Given the description of an element on the screen output the (x, y) to click on. 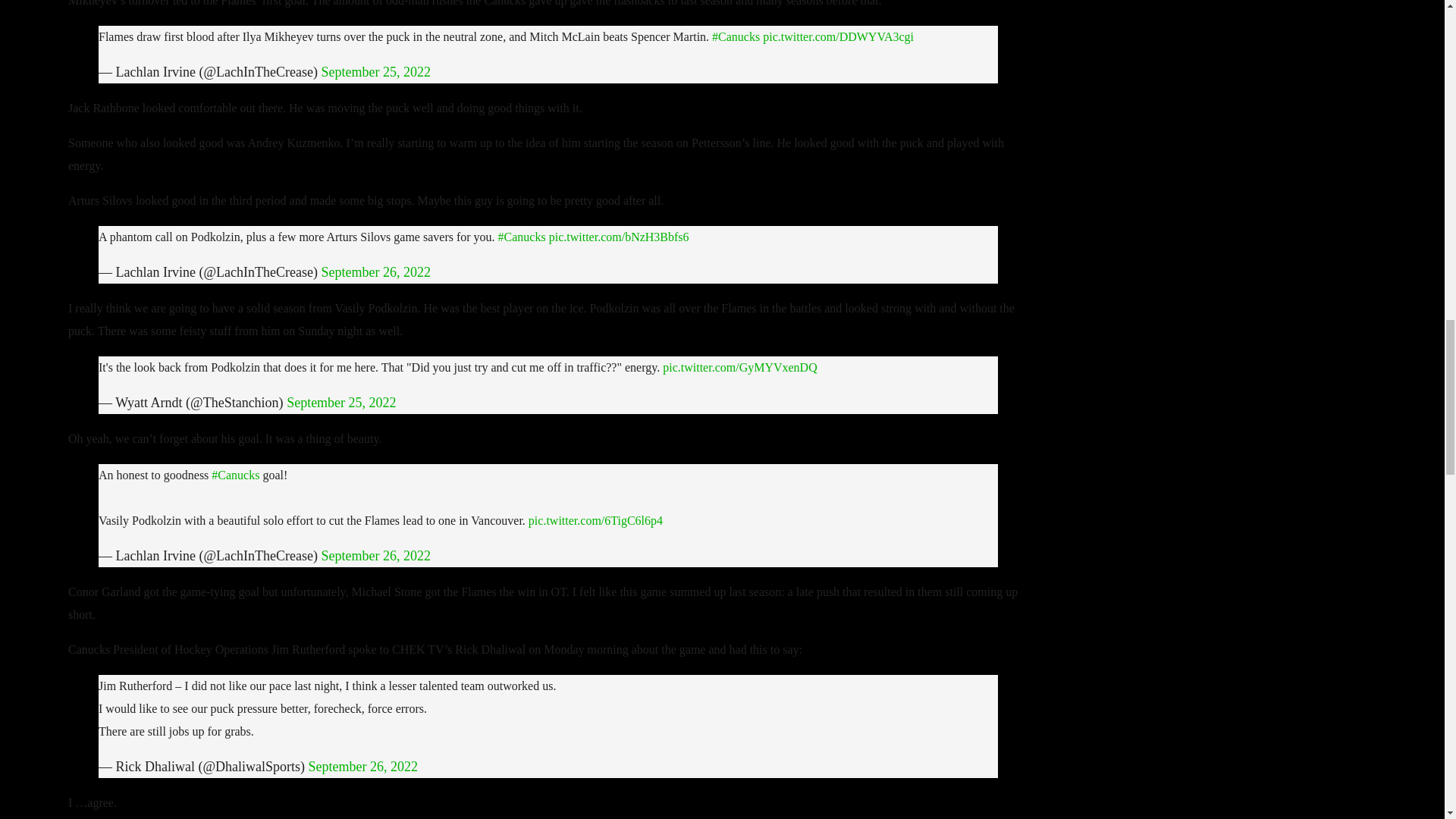
September 26, 2022 (374, 272)
September 25, 2022 (341, 402)
September 26, 2022 (362, 766)
September 26, 2022 (374, 555)
September 25, 2022 (374, 71)
